Given the description of an element on the screen output the (x, y) to click on. 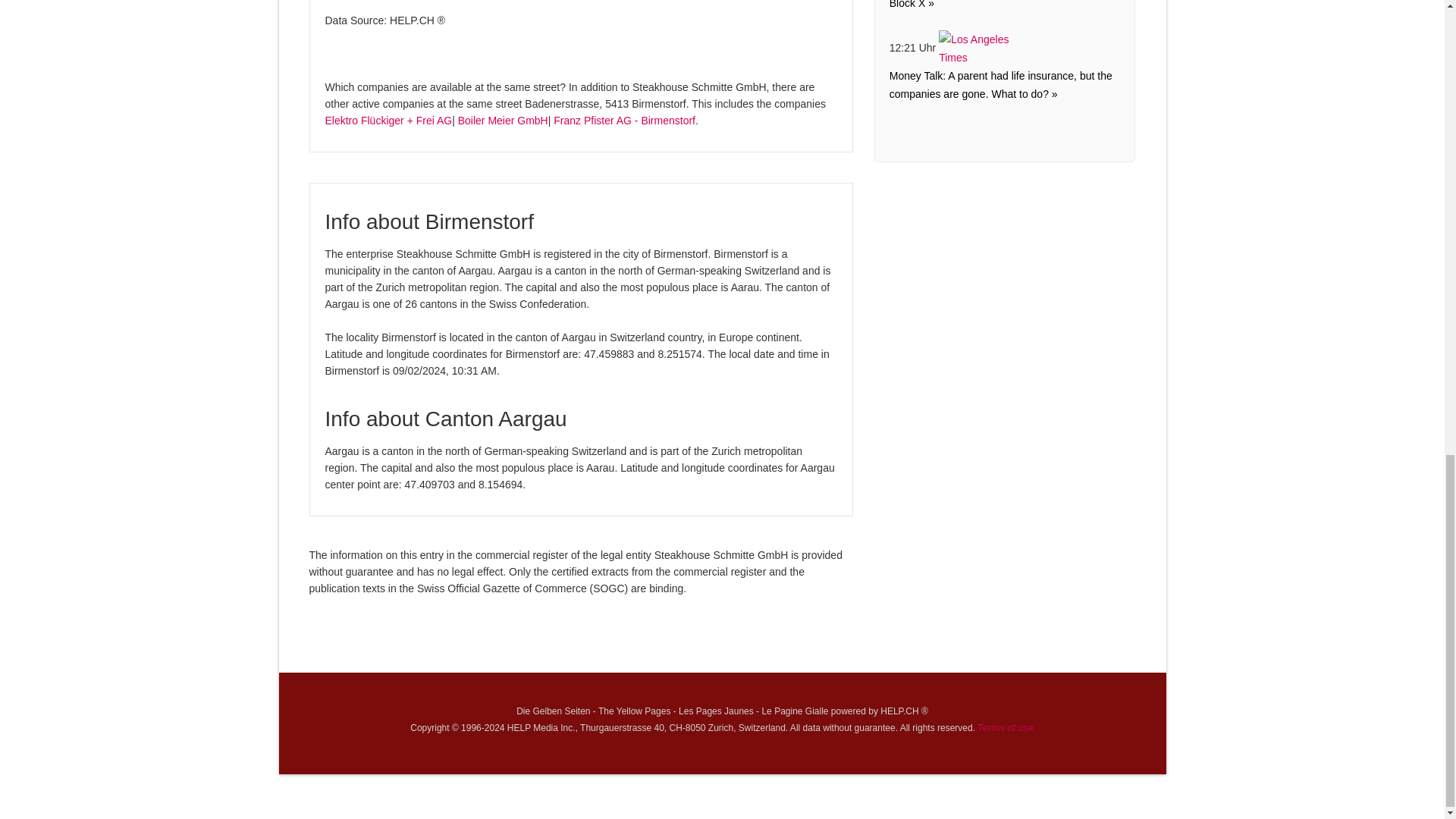
Terms of use (1004, 727)
Franz Pfister AG - Birmenstorf (624, 120)
Boiler Meier GmbH (503, 120)
